Given the description of an element on the screen output the (x, y) to click on. 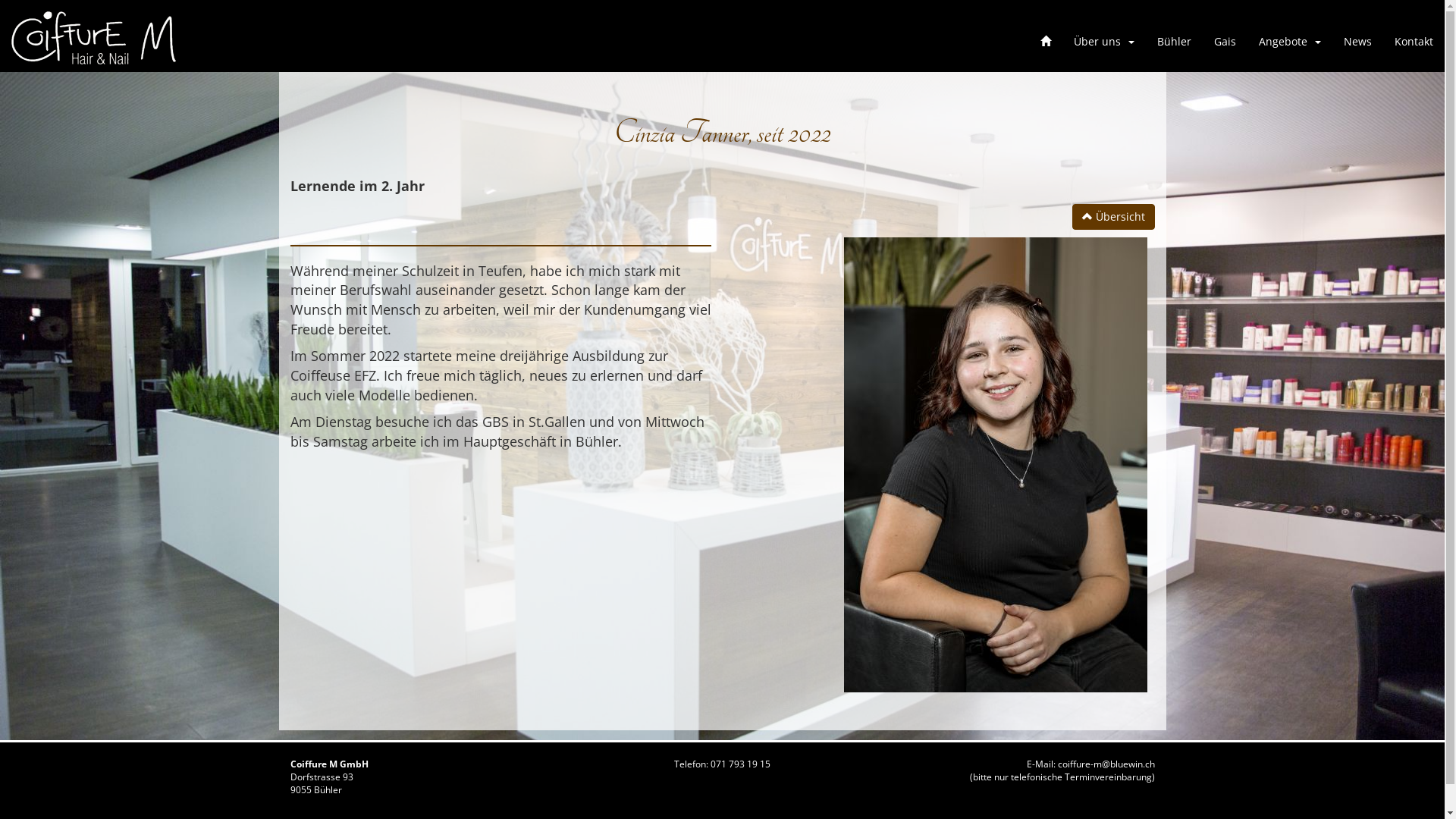
Angebote   Element type: text (1289, 41)
News Element type: text (1357, 41)
Kontakt Element type: text (1413, 41)
Gais Element type: text (1224, 41)
